Given the description of an element on the screen output the (x, y) to click on. 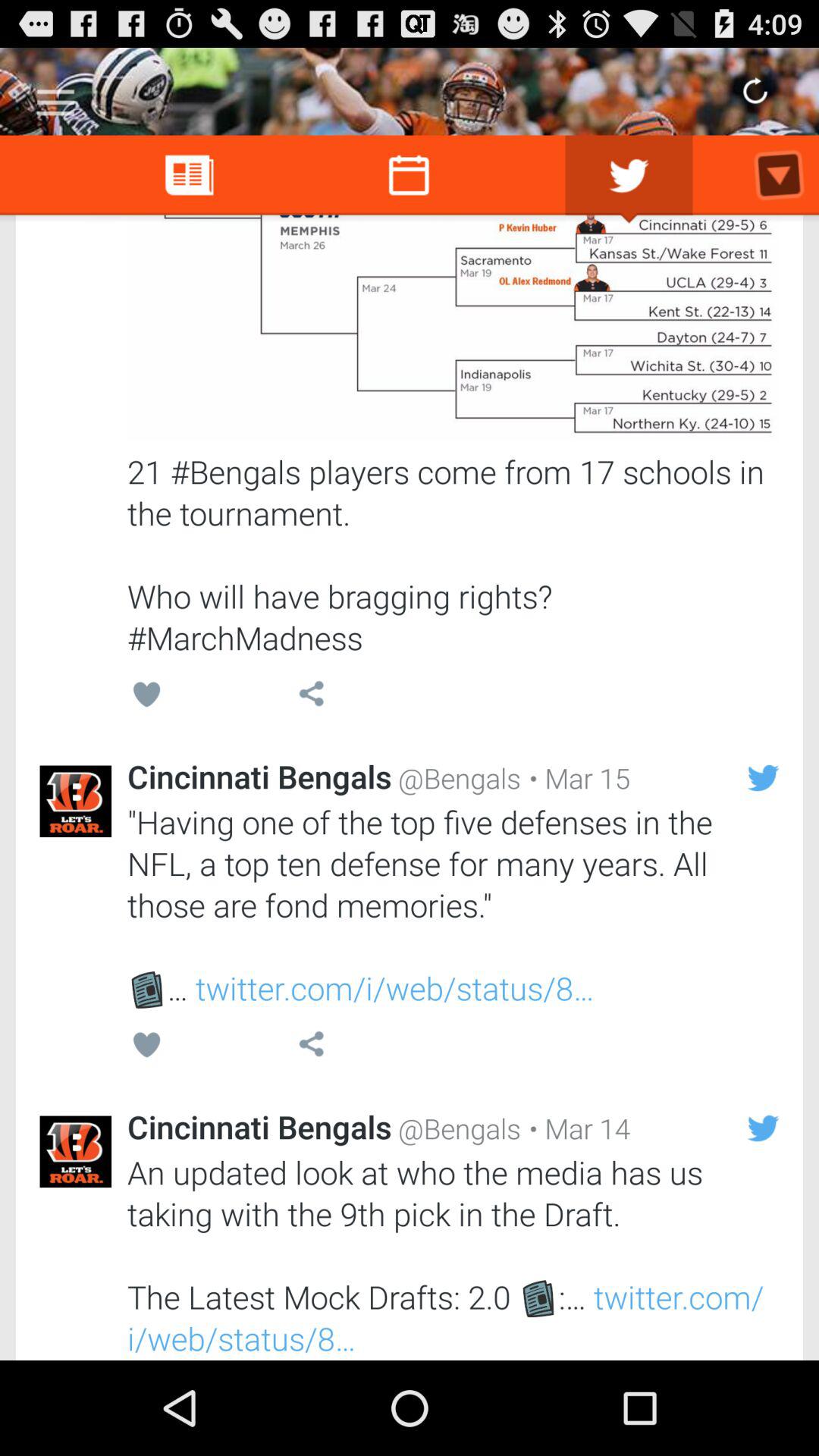
jump until the having one of item (453, 904)
